Given the description of an element on the screen output the (x, y) to click on. 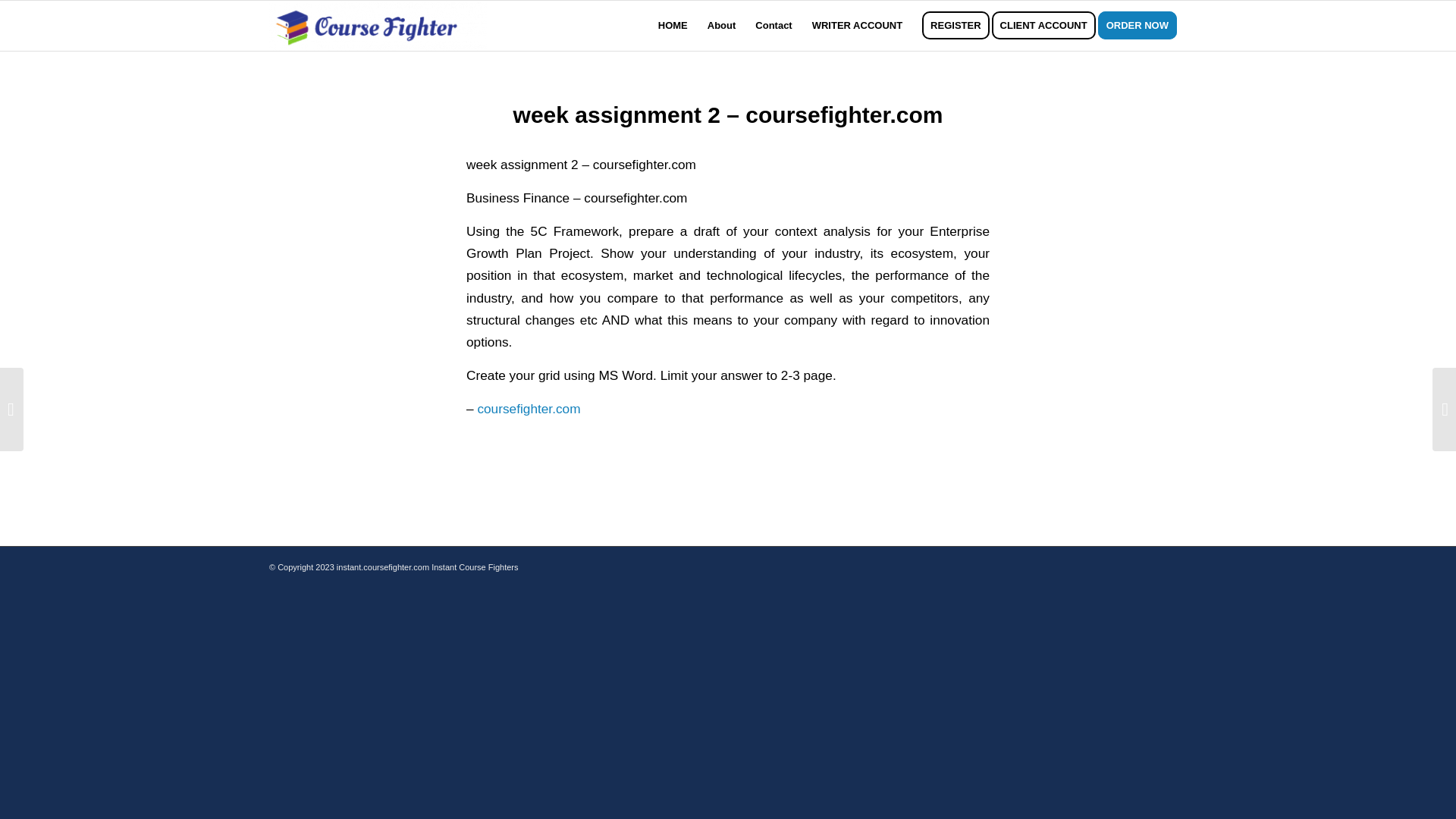
HOME (672, 25)
coursefighter.com (528, 408)
CLIENT ACCOUNT (1048, 25)
WRITER ACCOUNT (857, 25)
REGISTER (955, 25)
Contact (773, 25)
ORDER NOW (1141, 25)
About (721, 25)
